Given the description of an element on the screen output the (x, y) to click on. 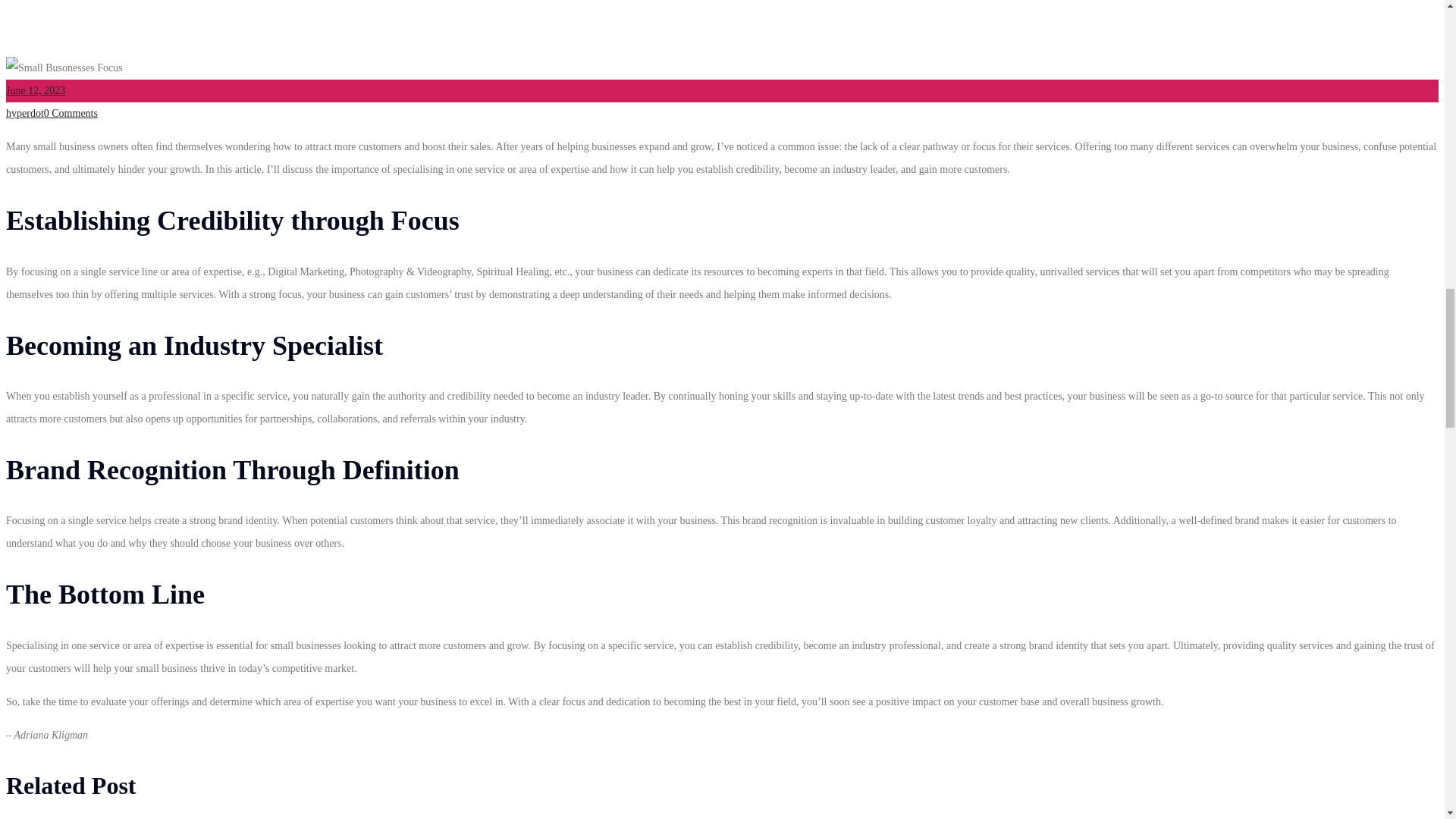
View all posts by hyperdot (24, 112)
